Given the description of an element on the screen output the (x, y) to click on. 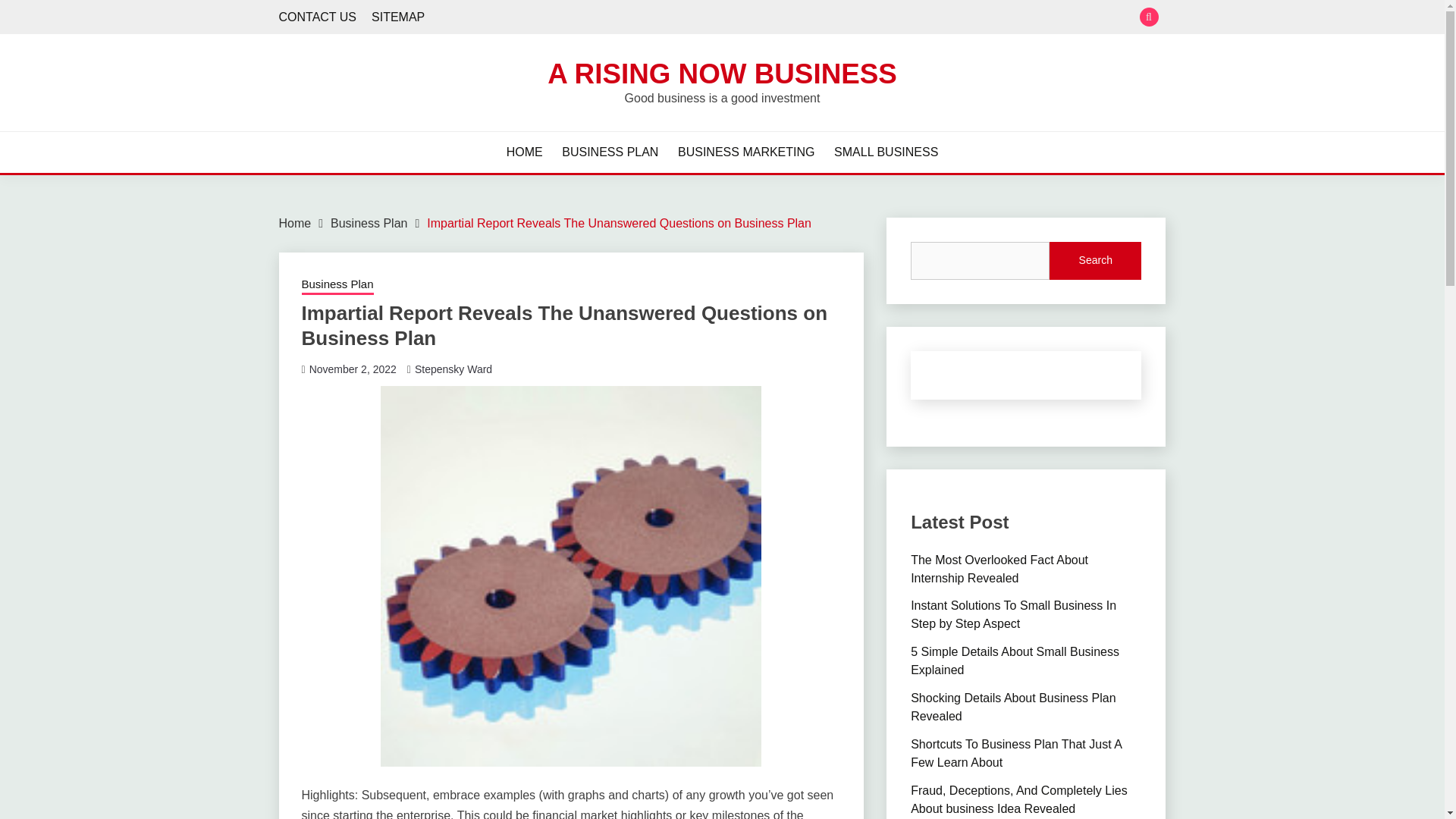
5 Simple Details About Small Business Explained (1015, 660)
Home (295, 223)
A RISING NOW BUSINESS (721, 73)
SITEMAP (398, 16)
Instant Solutions To Small Business In Step by Step Aspect (1013, 613)
Search (832, 18)
BUSINESS MARKETING (745, 152)
HOME (524, 152)
Business Plan (337, 285)
